Given the description of an element on the screen output the (x, y) to click on. 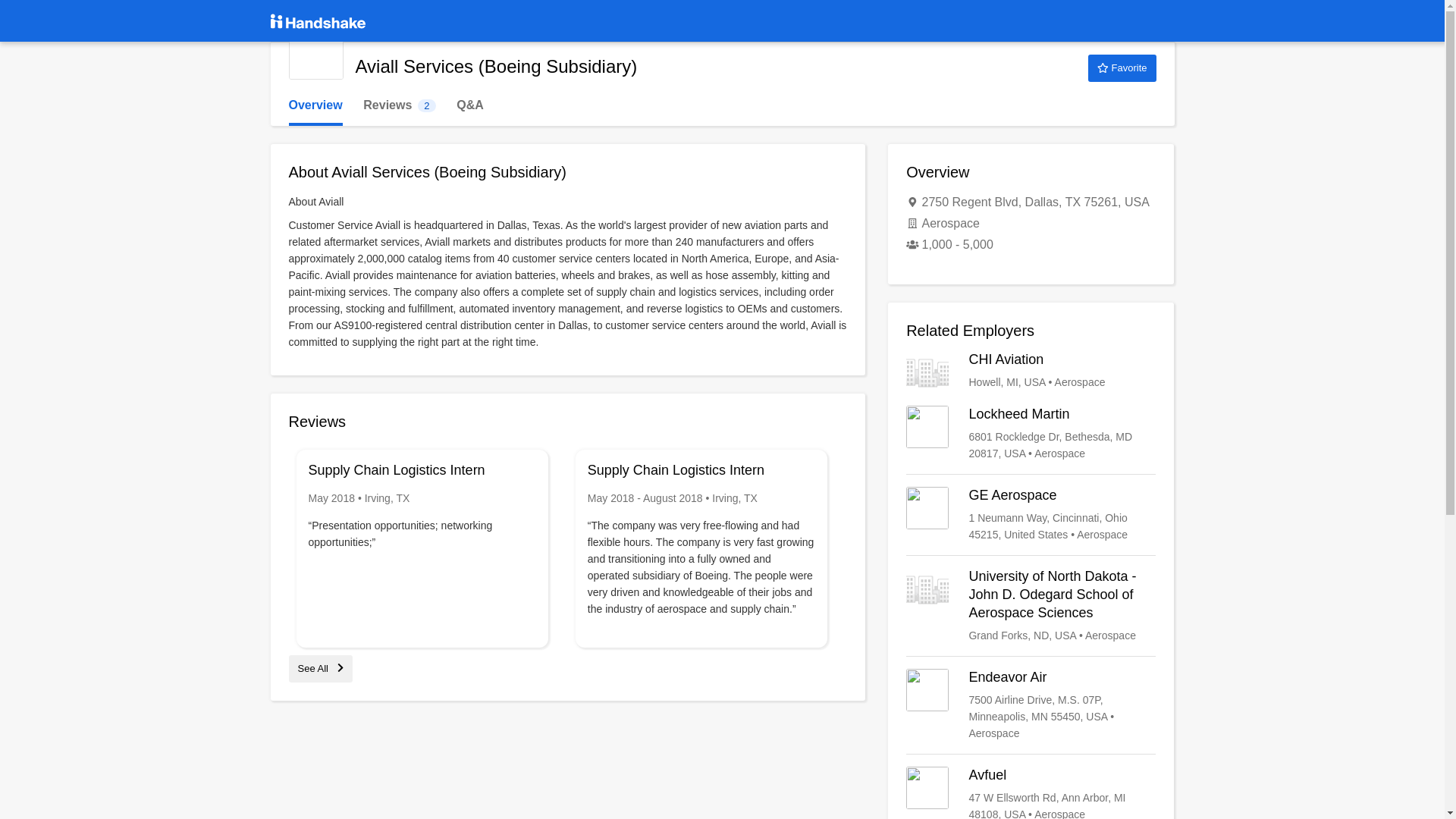
Avfuel (1030, 792)
Lockheed Martin (1030, 433)
GE Aerospace (1030, 514)
Endeavor Air (1030, 705)
CHI Aviation (398, 105)
Favorite (1030, 372)
See All (1121, 67)
Overview (320, 668)
